Given the description of an element on the screen output the (x, y) to click on. 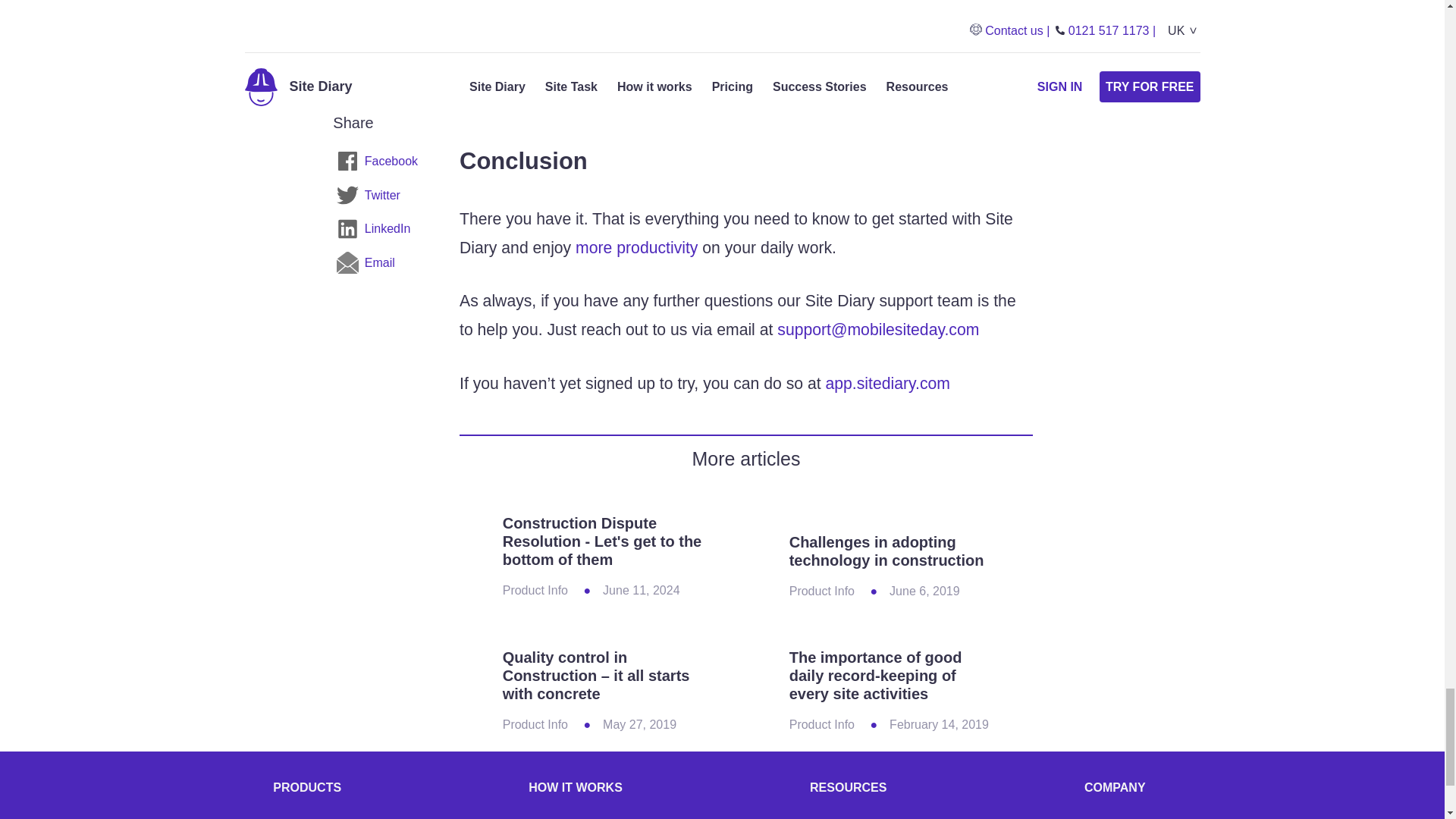
app.sitediary.com (887, 383)
RESOURCES (852, 787)
PRODUCTS (306, 787)
Challenges in adopting technology in construction (889, 511)
HOW IT WORKS (575, 787)
more productivity (636, 247)
Challenges in adopting technology in construction (886, 550)
